Given the description of an element on the screen output the (x, y) to click on. 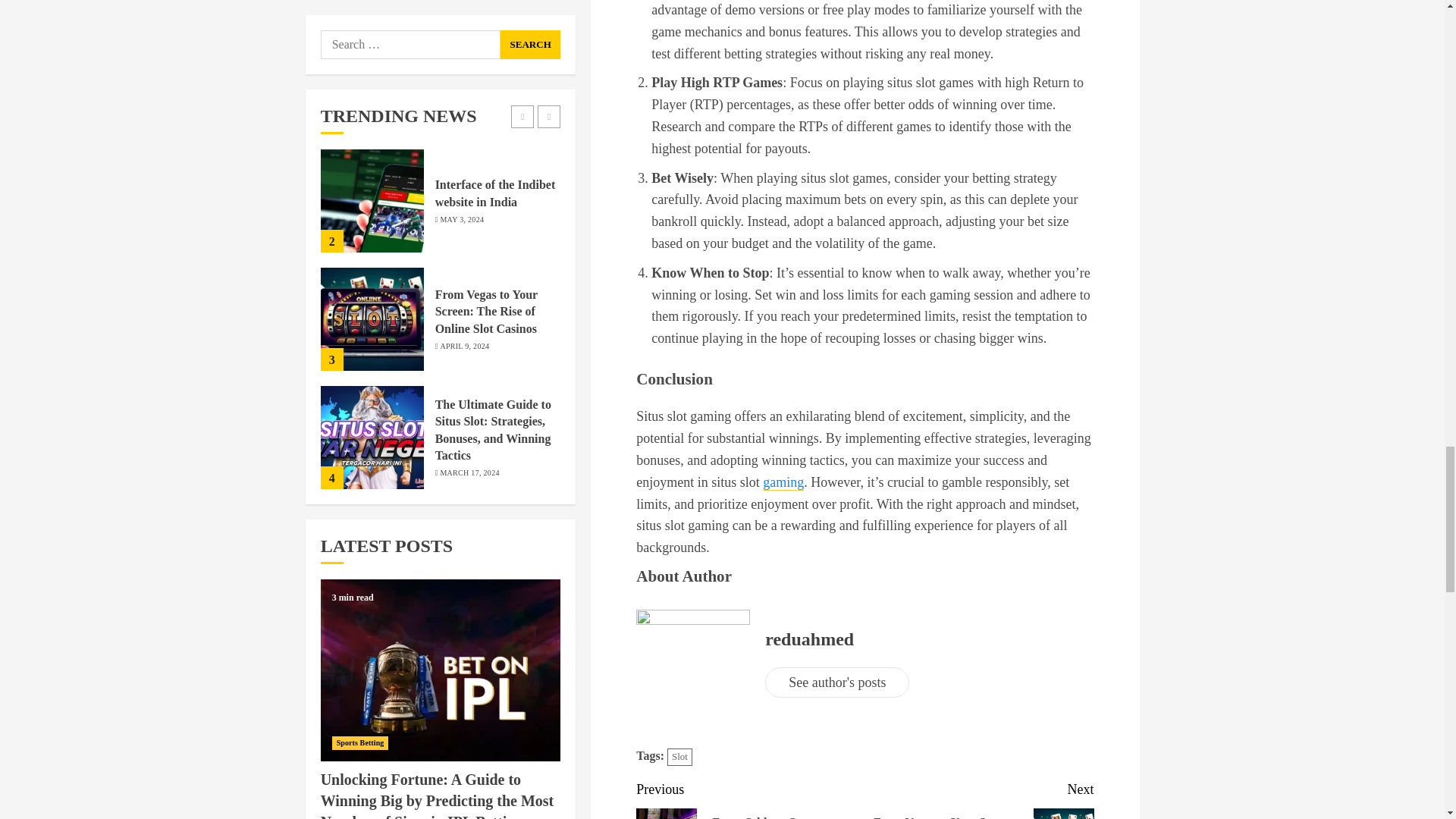
reduahmed (809, 639)
See author's posts (836, 682)
gaming (782, 482)
Slot (679, 756)
